Given the description of an element on the screen output the (x, y) to click on. 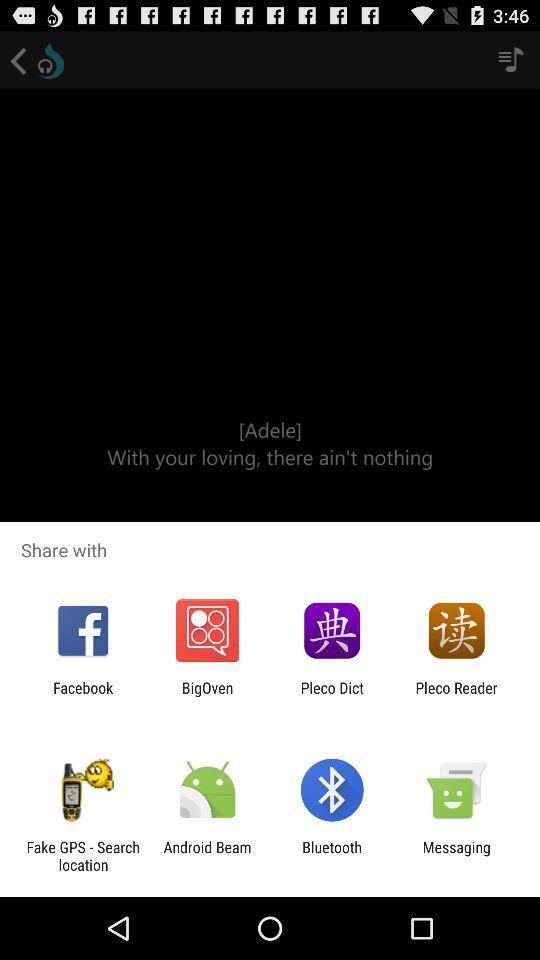
select icon next to pleco reader app (331, 696)
